Given the description of an element on the screen output the (x, y) to click on. 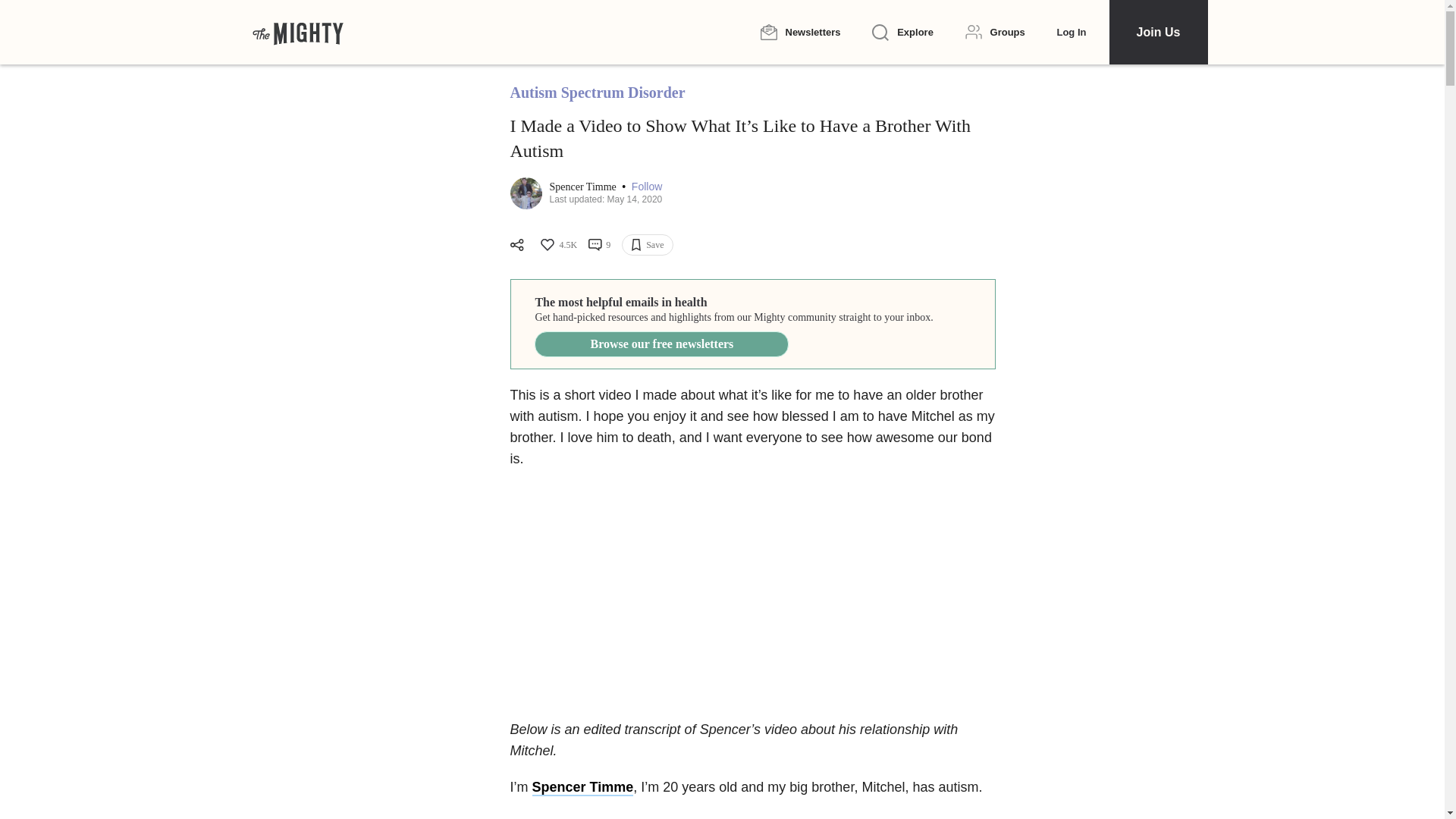
Spencer Timme (582, 787)
Follow (646, 186)
Join Us (1157, 32)
4.5K (557, 244)
The Mighty (296, 32)
Groups (995, 32)
Autism Spectrum Disorder (596, 92)
Browse our free newsletters (661, 344)
Newsletters (800, 31)
Spencer Timme (583, 186)
9 (599, 244)
Explore (902, 32)
Save (646, 244)
